Given the description of an element on the screen output the (x, y) to click on. 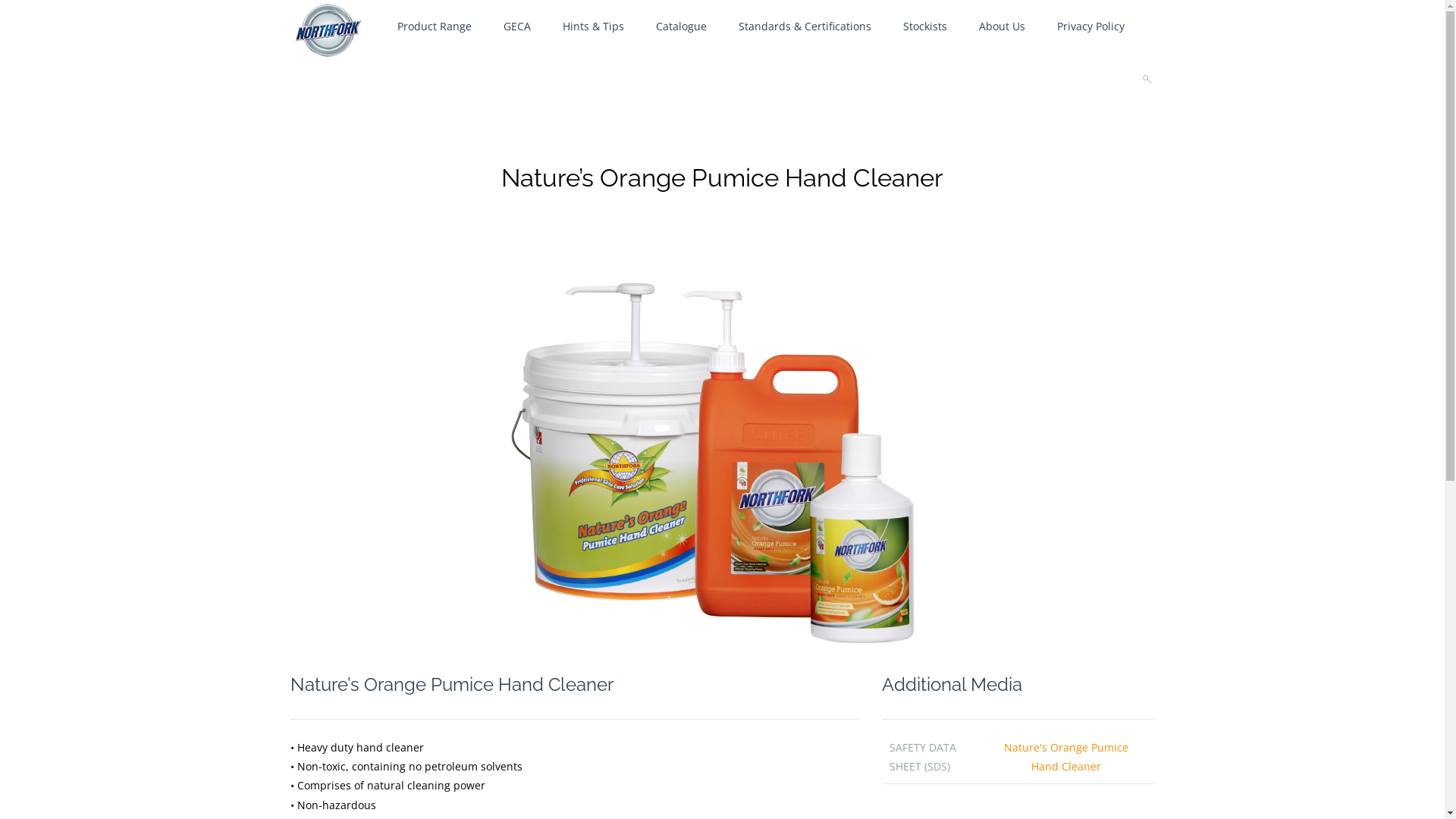
Stockists Element type: text (925, 26)
Hints & Tips Element type: text (592, 26)
Nature's Orange Pumice Hand Cleaner Element type: text (1066, 756)
Catalogue Element type: text (681, 26)
Standards & Certifications Element type: text (803, 26)
About Us Element type: text (1002, 26)
GECA Element type: text (516, 26)
Privacy Policy Element type: text (1089, 26)
Product Range Element type: text (433, 26)
